Given the description of an element on the screen output the (x, y) to click on. 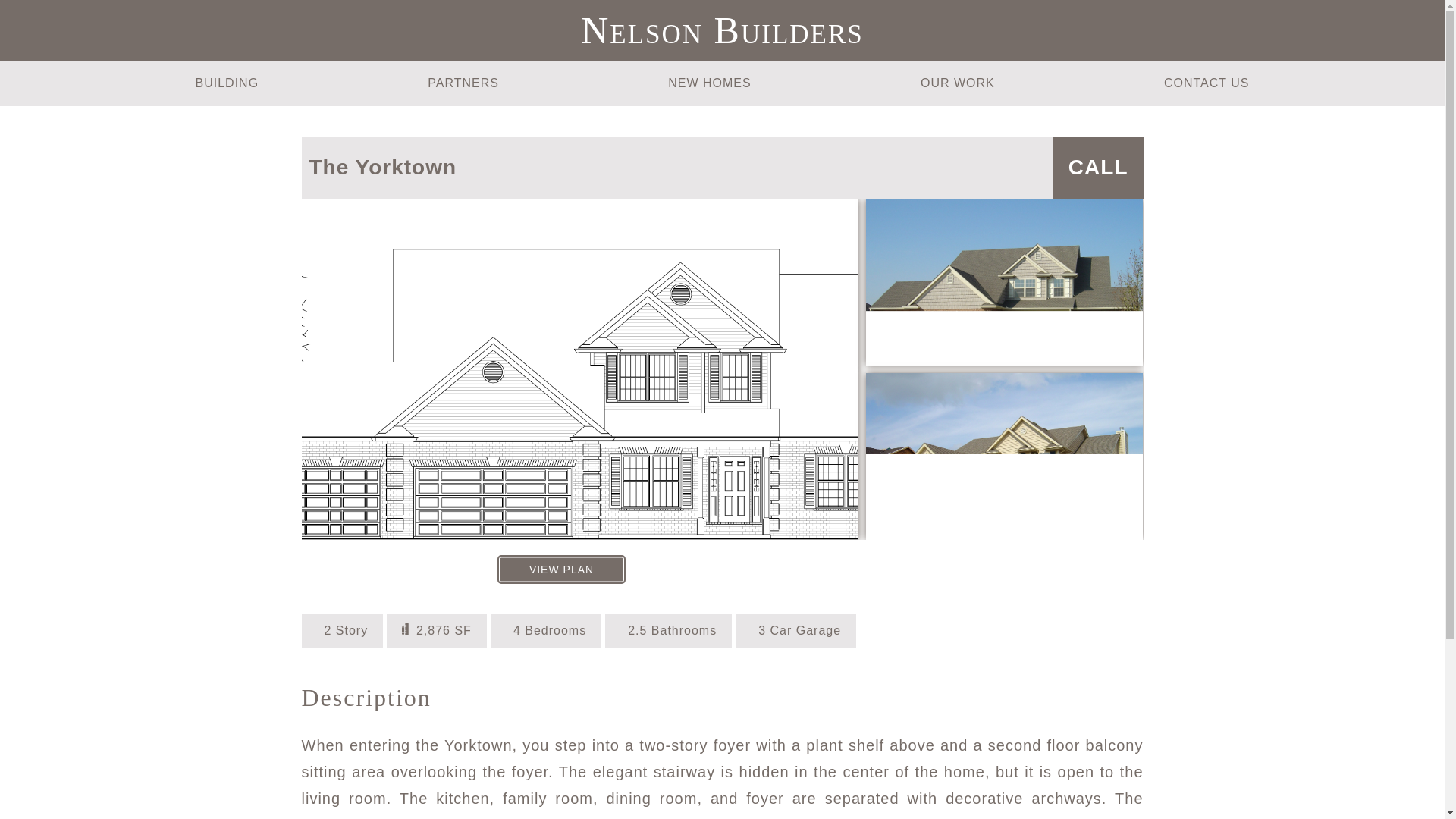
BUILDING (226, 83)
VIEW PLAN (561, 569)
OUR WORK (957, 83)
CONTACT US (1206, 83)
PARTNERS (463, 83)
NEW HOMES (709, 83)
